Given the description of an element on the screen output the (x, y) to click on. 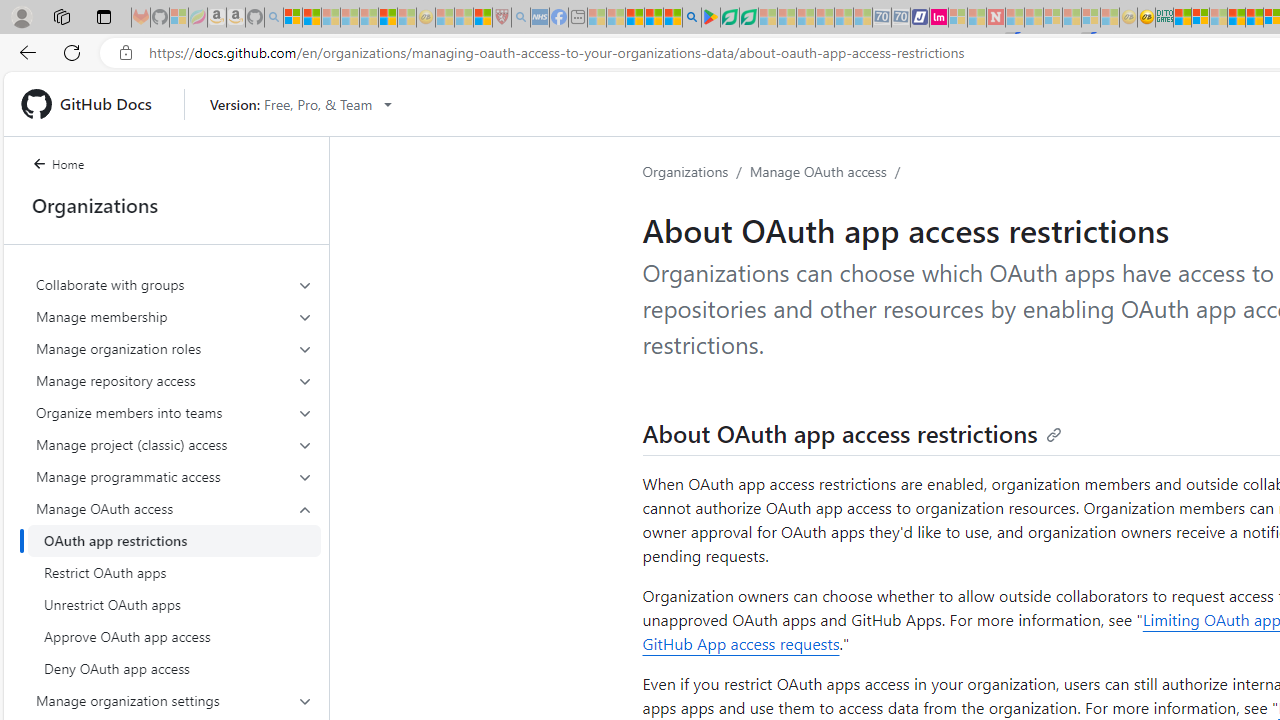
Restrict OAuth apps (174, 572)
Manage membership (174, 316)
OAuth app restrictions (174, 540)
Jobs - lastminute.com Investor Portal (939, 17)
Collaborate with groups (174, 284)
Deny OAuth app access (174, 668)
